Given the description of an element on the screen output the (x, y) to click on. 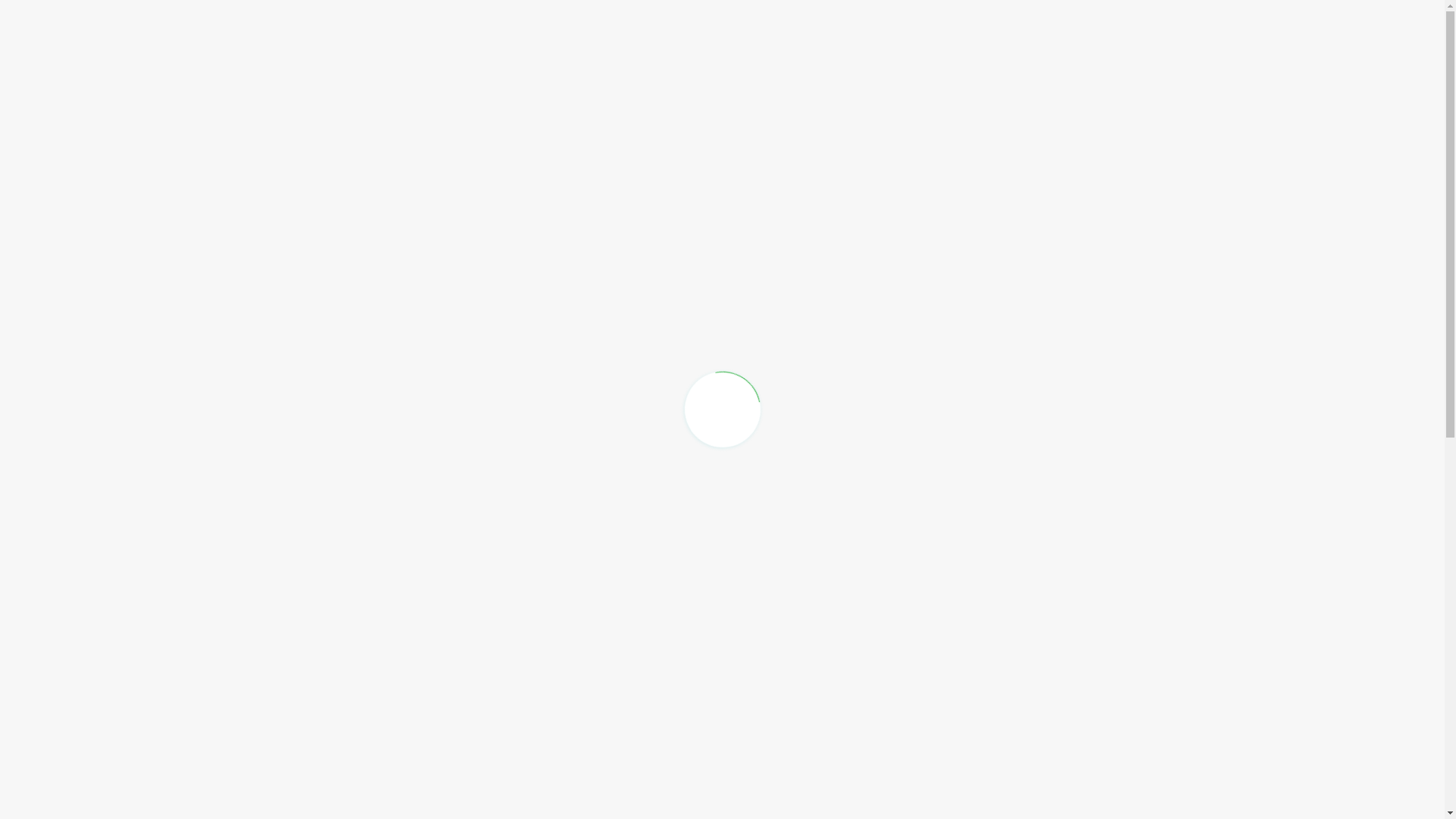
Speakers Element type: text (975, 38)
Login Element type: text (1226, 40)
2021 Edition Element type: text (778, 38)
About Us Element type: text (880, 38)
Contact Element type: text (1153, 38)
Home Element type: text (684, 38)
Shift 3D Element type: text (1067, 38)
Register Element type: text (1296, 40)
